Given the description of an element on the screen output the (x, y) to click on. 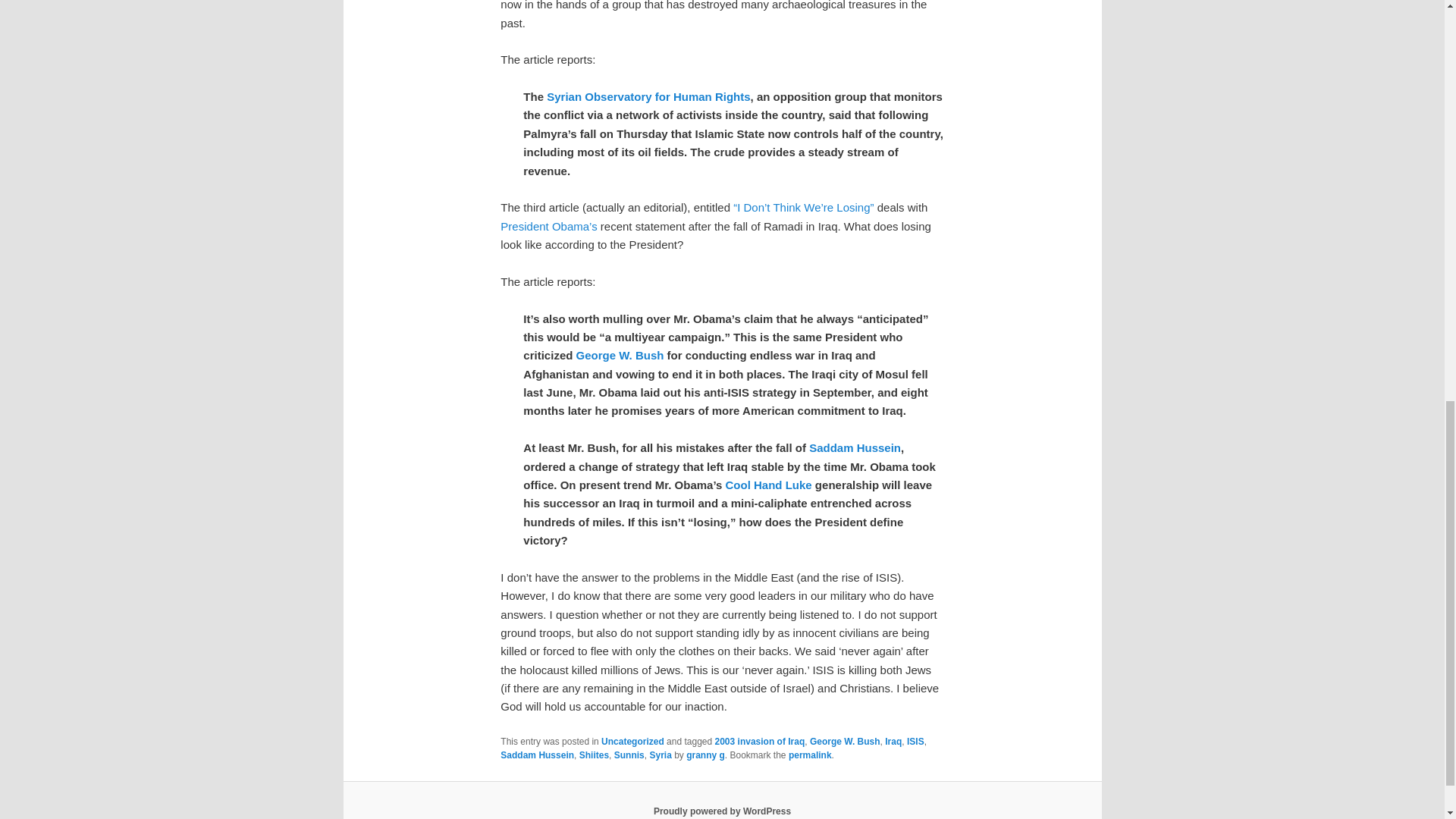
granny g (705, 755)
Syria (660, 755)
Permalink to Is There A Realist In The House? (810, 755)
George W. Bush (619, 354)
Iraq (893, 741)
Uncategorized (632, 741)
Saddam Hussein (536, 755)
permalink (810, 755)
Semantic Personal Publishing Platform (721, 810)
ISIS (915, 741)
George W. Bush (844, 741)
Saddam Hussein (855, 447)
2003 invasion of Iraq (759, 741)
Proudly powered by WordPress (721, 810)
Syrian Observatory for Human Rights (648, 96)
